Given the description of an element on the screen output the (x, y) to click on. 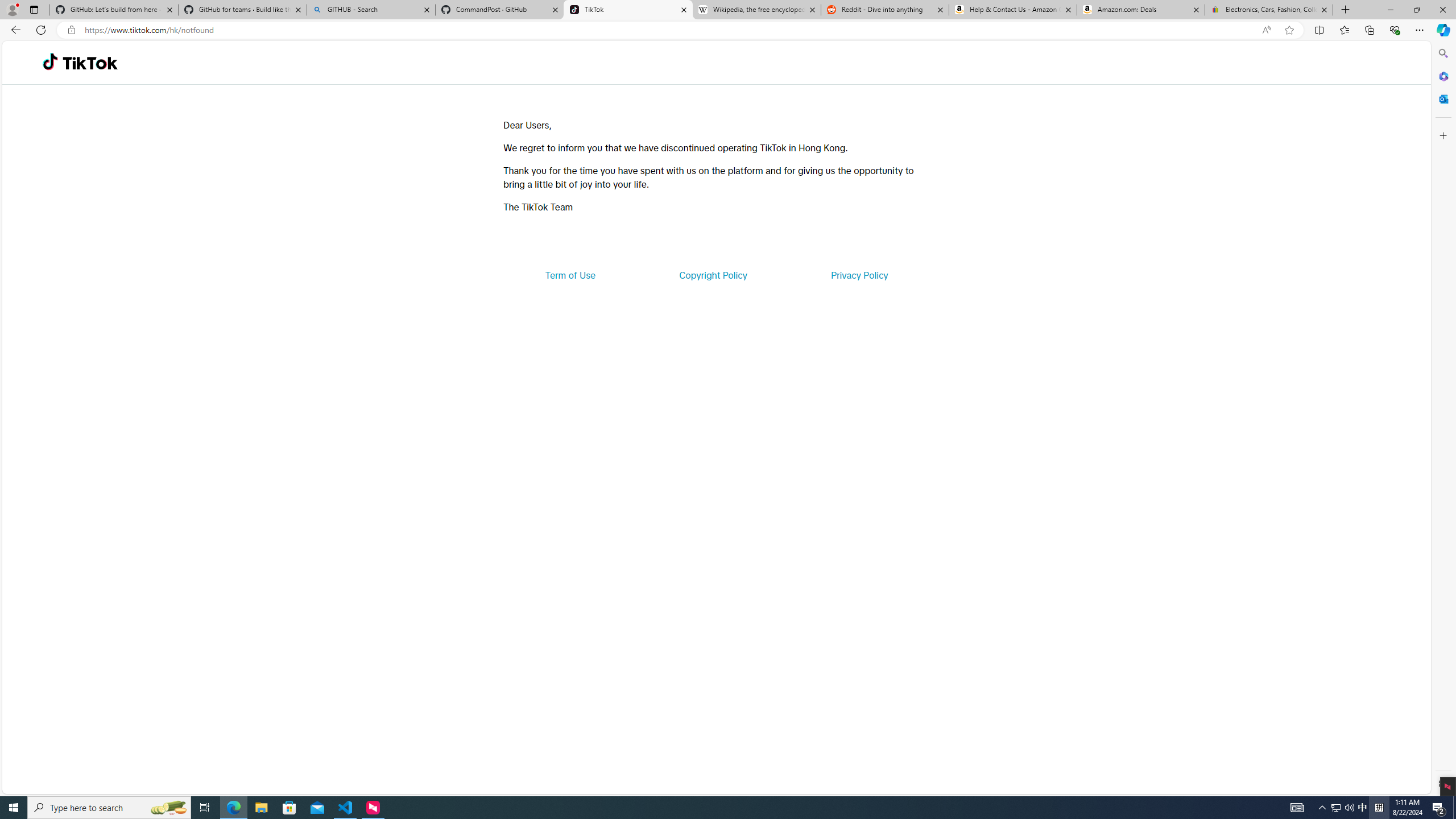
Help & Contact Us - Amazon Customer Service (1012, 9)
Reddit - Dive into anything (884, 9)
Term of Use (569, 274)
